Given the description of an element on the screen output the (x, y) to click on. 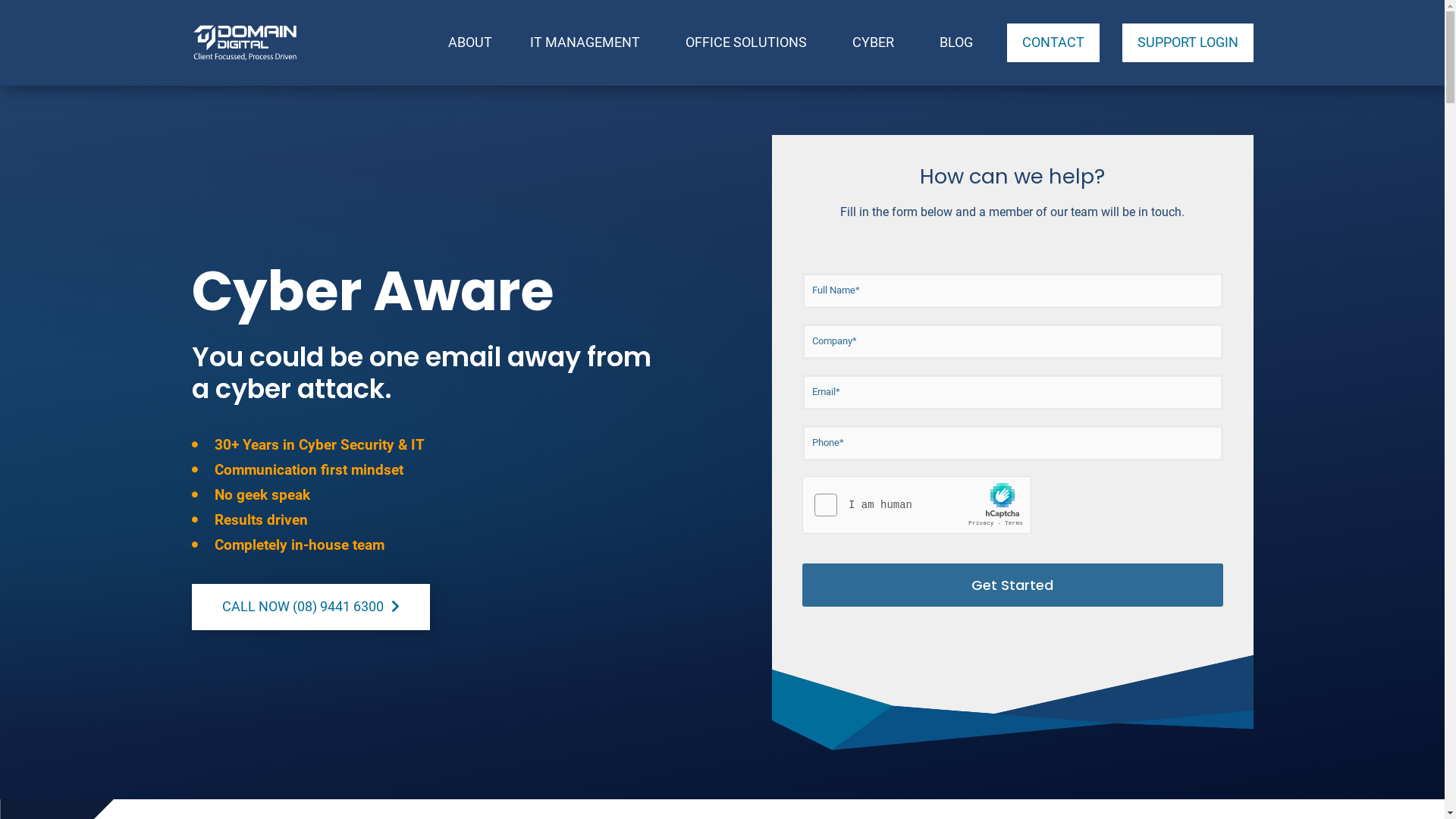
CYBER Element type: text (876, 42)
OFFICE SOLUTIONS Element type: text (749, 42)
IT MANAGEMENT Element type: text (588, 42)
Get Started Element type: text (1012, 584)
BLOG Element type: text (956, 42)
Widget containing checkbox for hCaptcha security challenge Element type: hover (917, 505)
CONTACT Element type: text (1053, 42)
ABOUT Element type: text (469, 42)
SUPPORT LOGIN Element type: text (1187, 42)
CALL NOW (08) 9441 6300 Element type: text (310, 606)
